Given the description of an element on the screen output the (x, y) to click on. 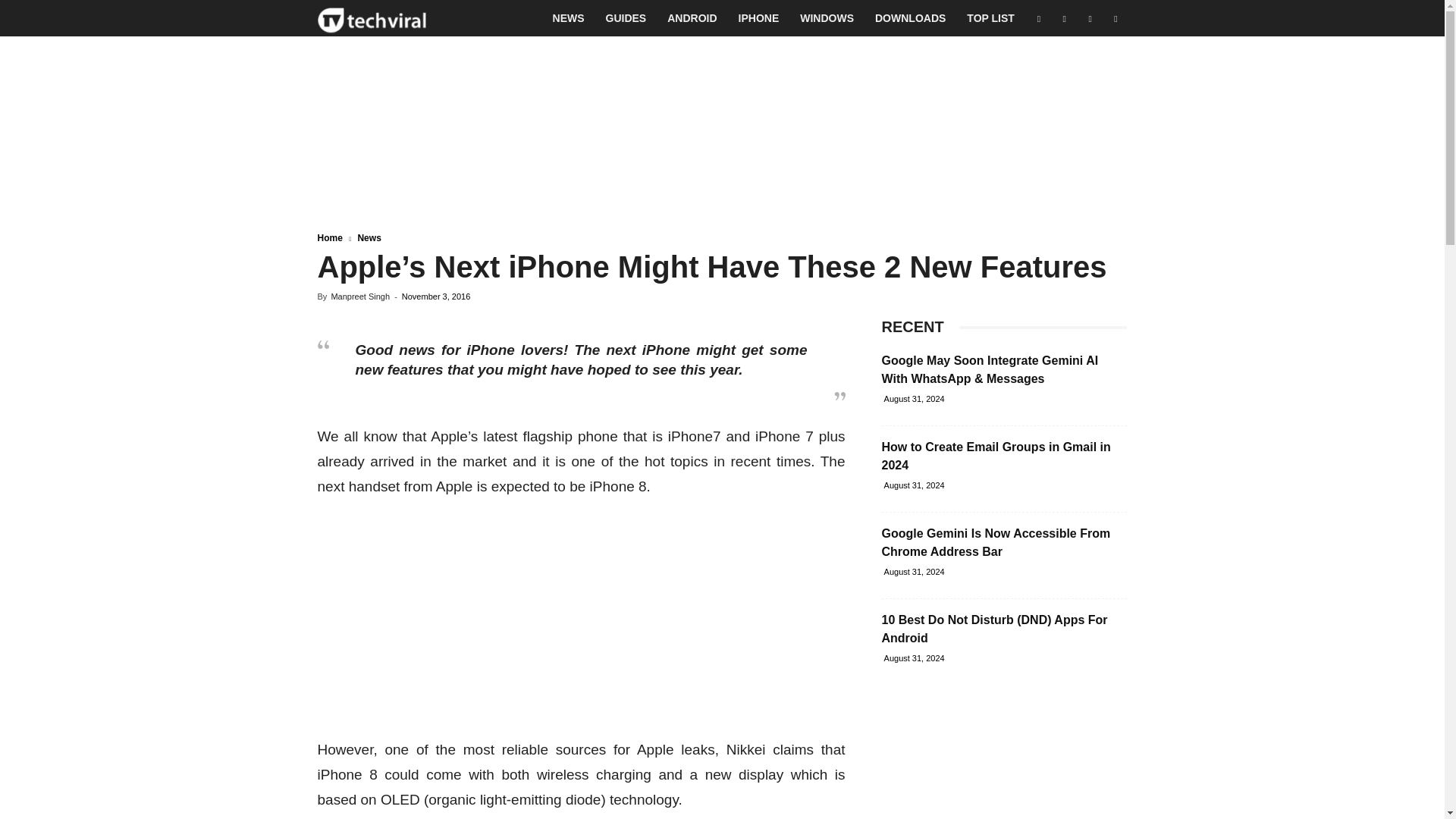
GUIDES (626, 18)
TOP LIST (990, 18)
TechViral (371, 18)
ANDROID (691, 18)
Manpreet Singh (360, 296)
WINDOWS (826, 18)
Tech Viral (371, 18)
NEWS (568, 18)
IPHONE (759, 18)
Home (329, 237)
